Given the description of an element on the screen output the (x, y) to click on. 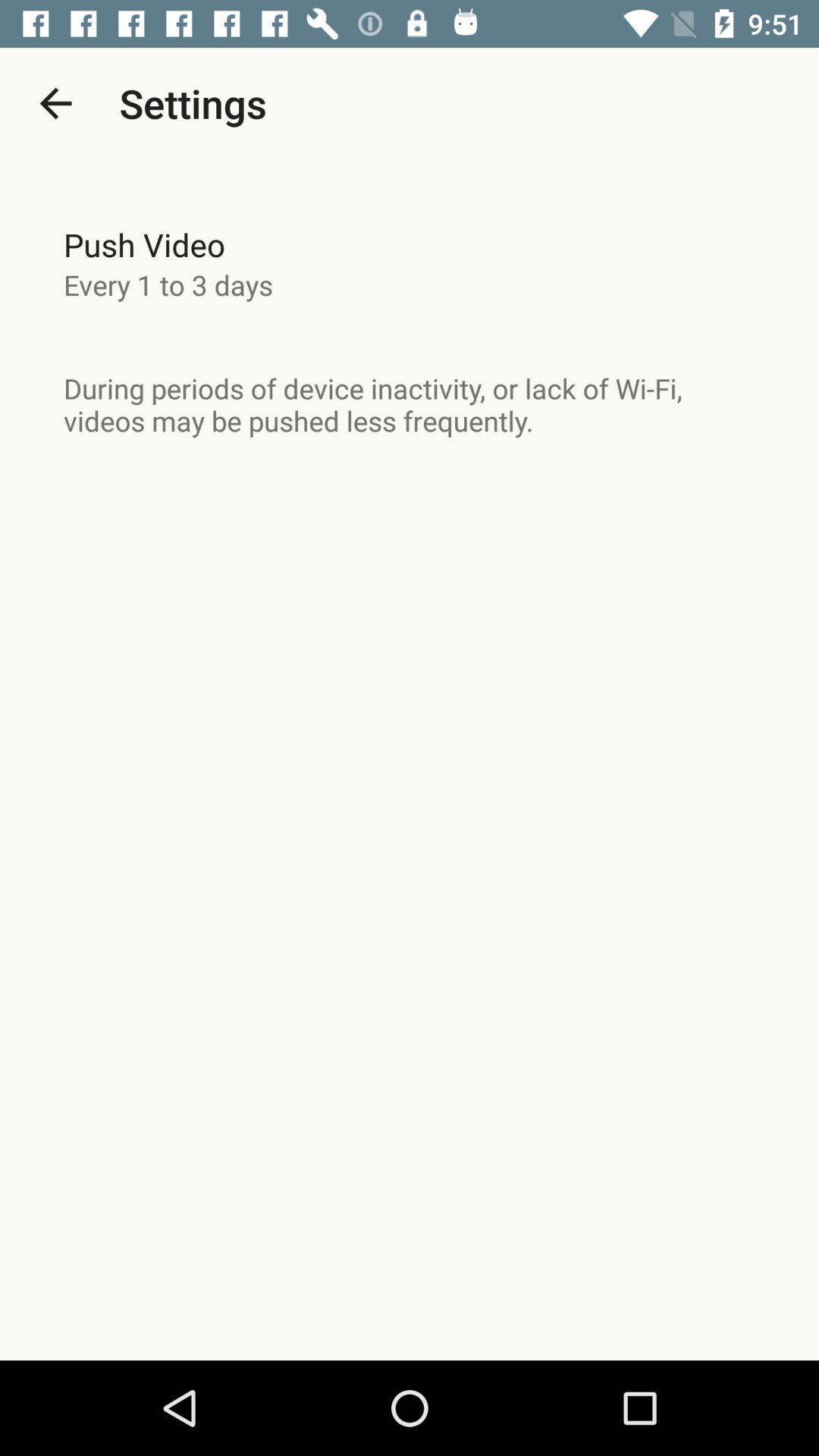
choose every 1 to item (168, 284)
